Given the description of an element on the screen output the (x, y) to click on. 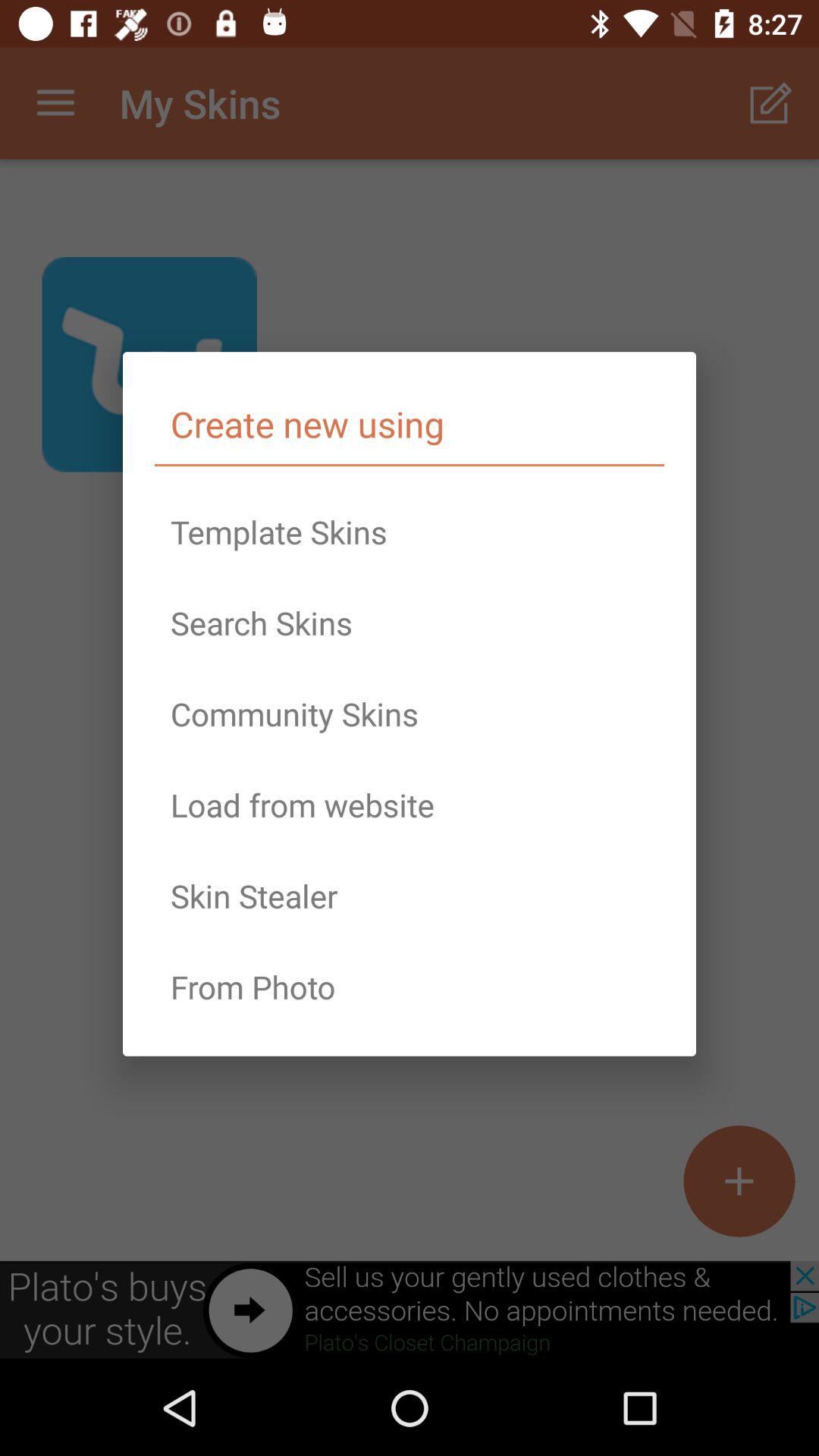
turn off the from photo at the bottom (409, 986)
